Given the description of an element on the screen output the (x, y) to click on. 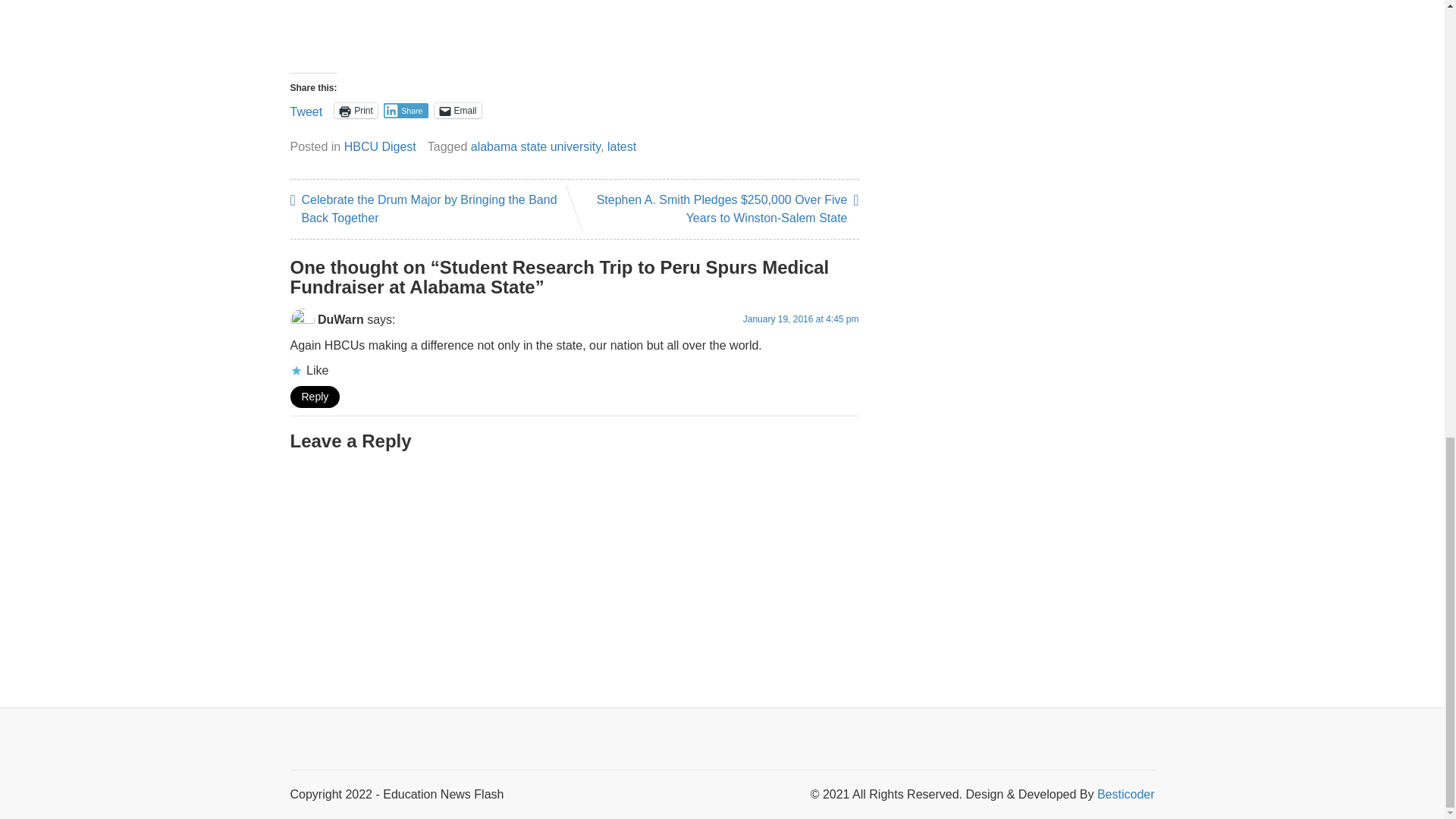
Email (456, 110)
alabama state university (534, 146)
Print (355, 110)
Reply (314, 396)
Click to email a link to a friend (456, 110)
Click to print (355, 110)
Tweet (305, 110)
Celebrate the Drum Major by Bringing the Band Back Together (425, 208)
latest (621, 146)
Share (406, 110)
January 19, 2016 at 4:45 pm (800, 318)
HBCU Digest (379, 146)
Advertisement (574, 29)
Besticoder (1125, 793)
